Given the description of an element on the screen output the (x, y) to click on. 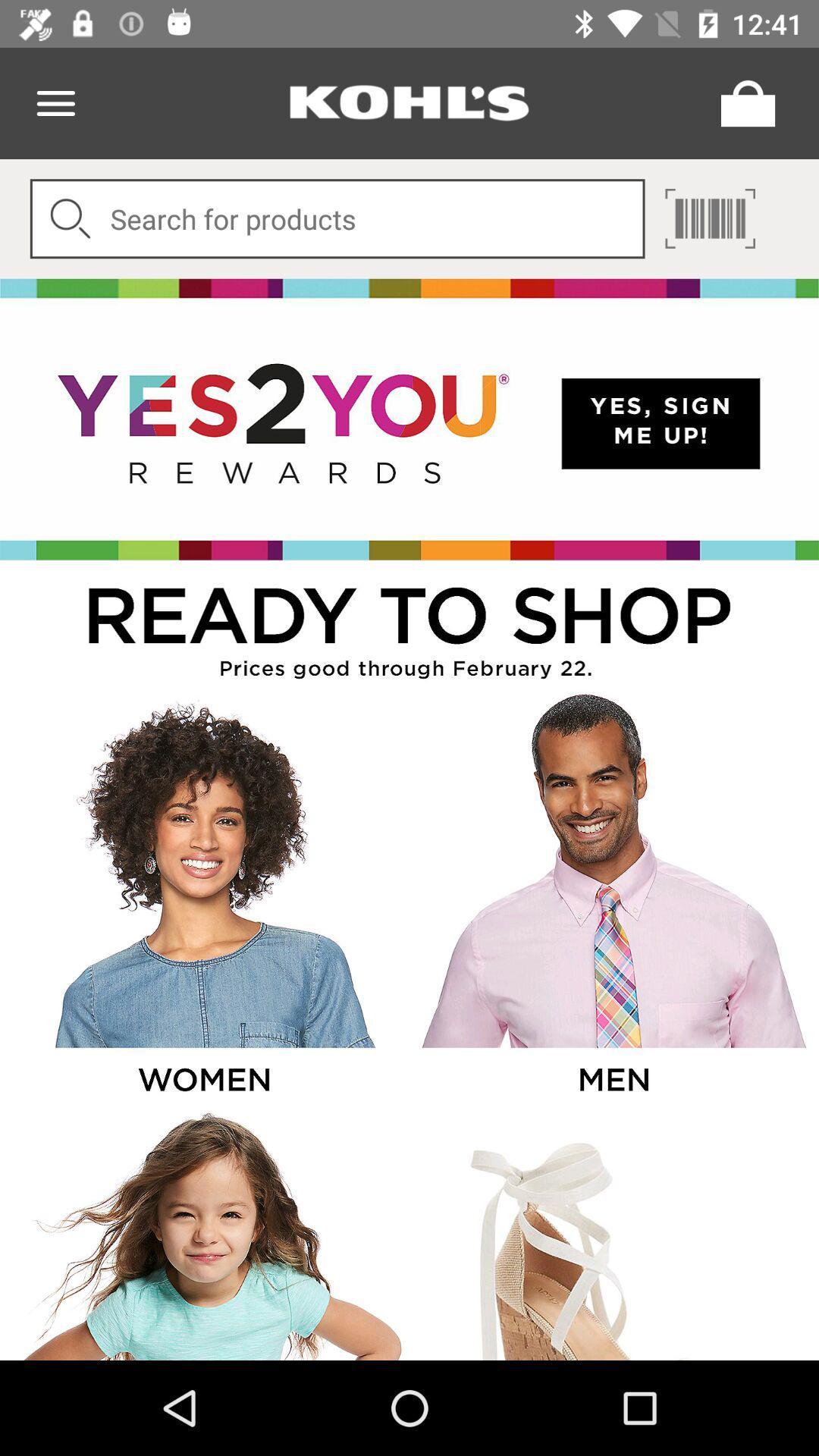
menu page (744, 103)
